Given the description of an element on the screen output the (x, y) to click on. 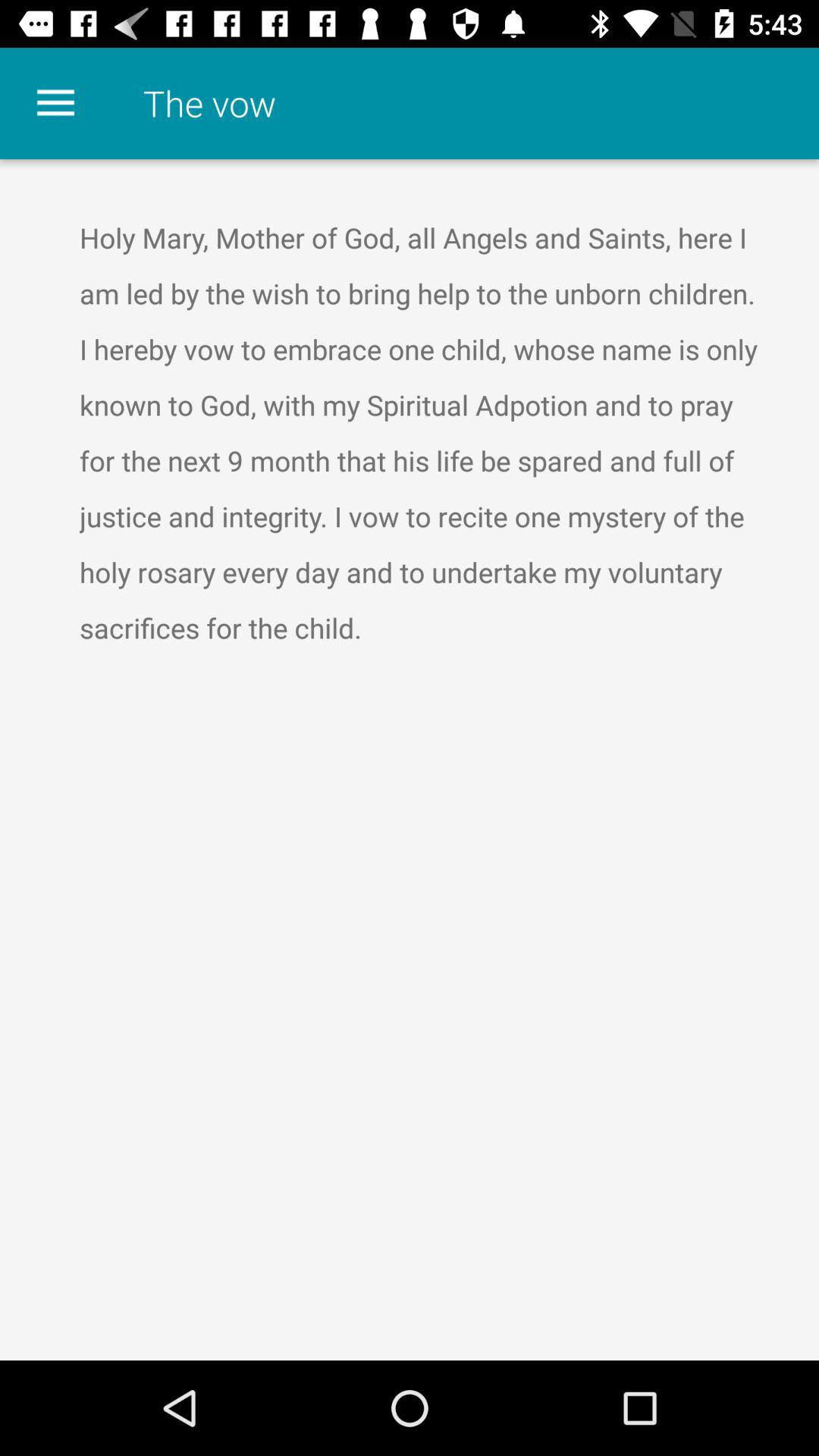
turn on the item to the left of the the vow (55, 103)
